Given the description of an element on the screen output the (x, y) to click on. 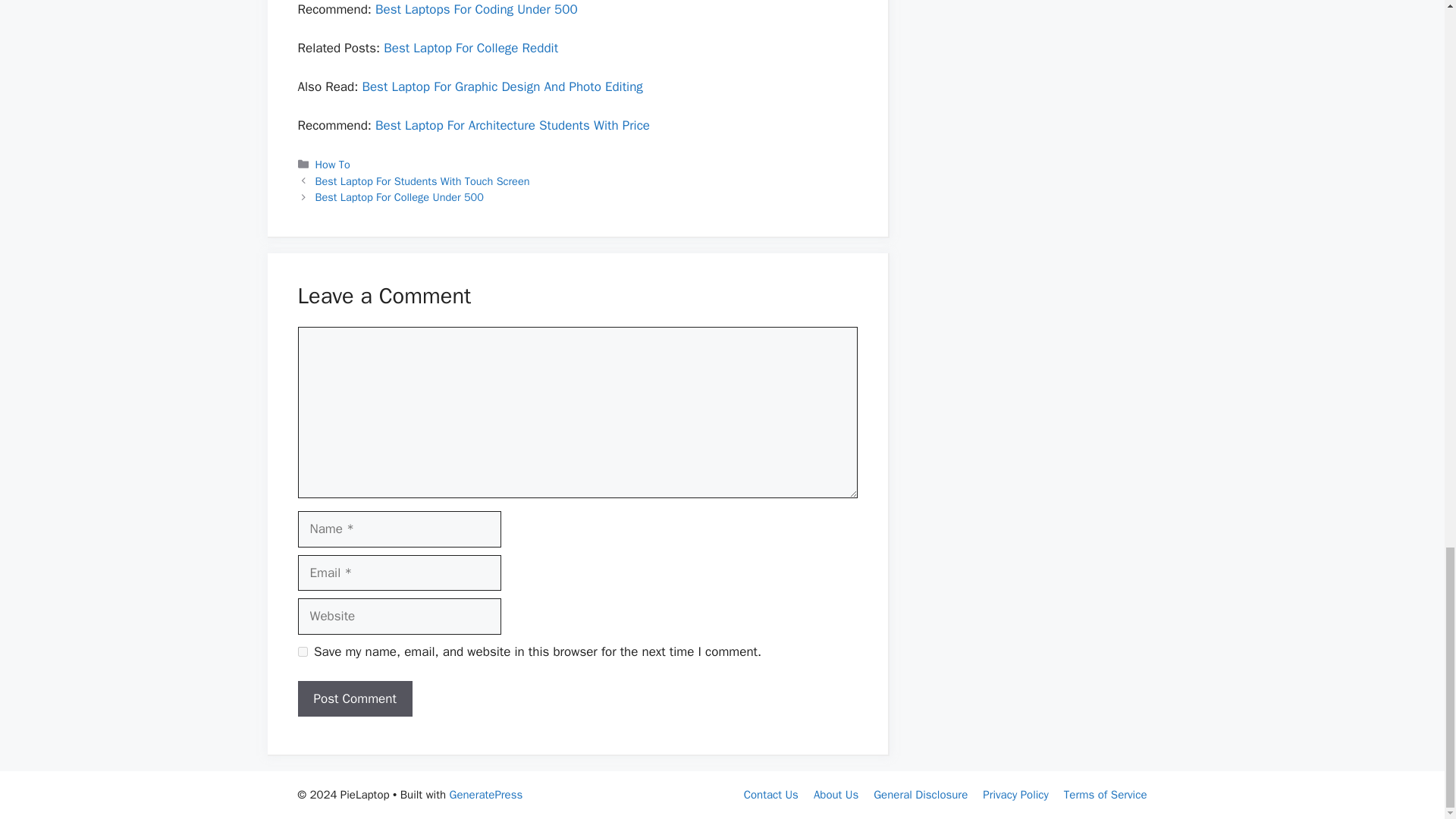
Best Laptop For Architecture Students With Price (512, 125)
Post Comment (354, 698)
Best Laptops For Coding Under 500 (476, 9)
yes (302, 651)
Best Laptop For College Under 500 (399, 196)
Post Comment (354, 698)
How To (332, 164)
Best Laptop For Students With Touch Screen (422, 181)
Best Laptop For College Reddit (470, 48)
Best Laptop For Graphic Design And Photo Editing (501, 86)
